Given the description of an element on the screen output the (x, y) to click on. 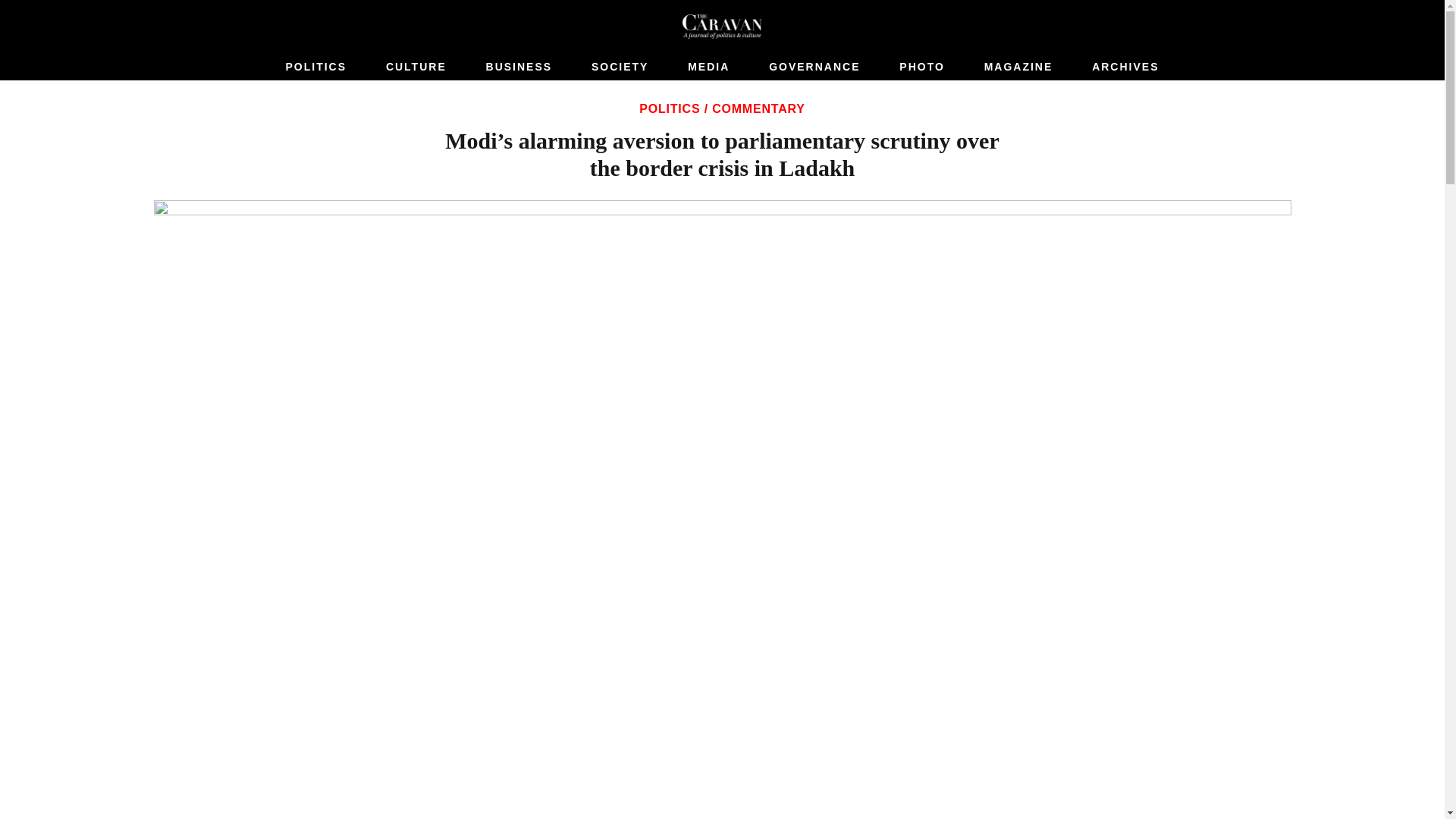
SOCIETY (619, 66)
GOVERNANCE (814, 66)
MAGAZINE (1018, 66)
POLITICS (315, 66)
BUSINESS (519, 66)
CULTURE (416, 66)
PHOTO (921, 66)
COMMENTARY (758, 108)
POLITICS (669, 108)
MEDIA (708, 66)
ARCHIVES (1125, 66)
